Given the description of an element on the screen output the (x, y) to click on. 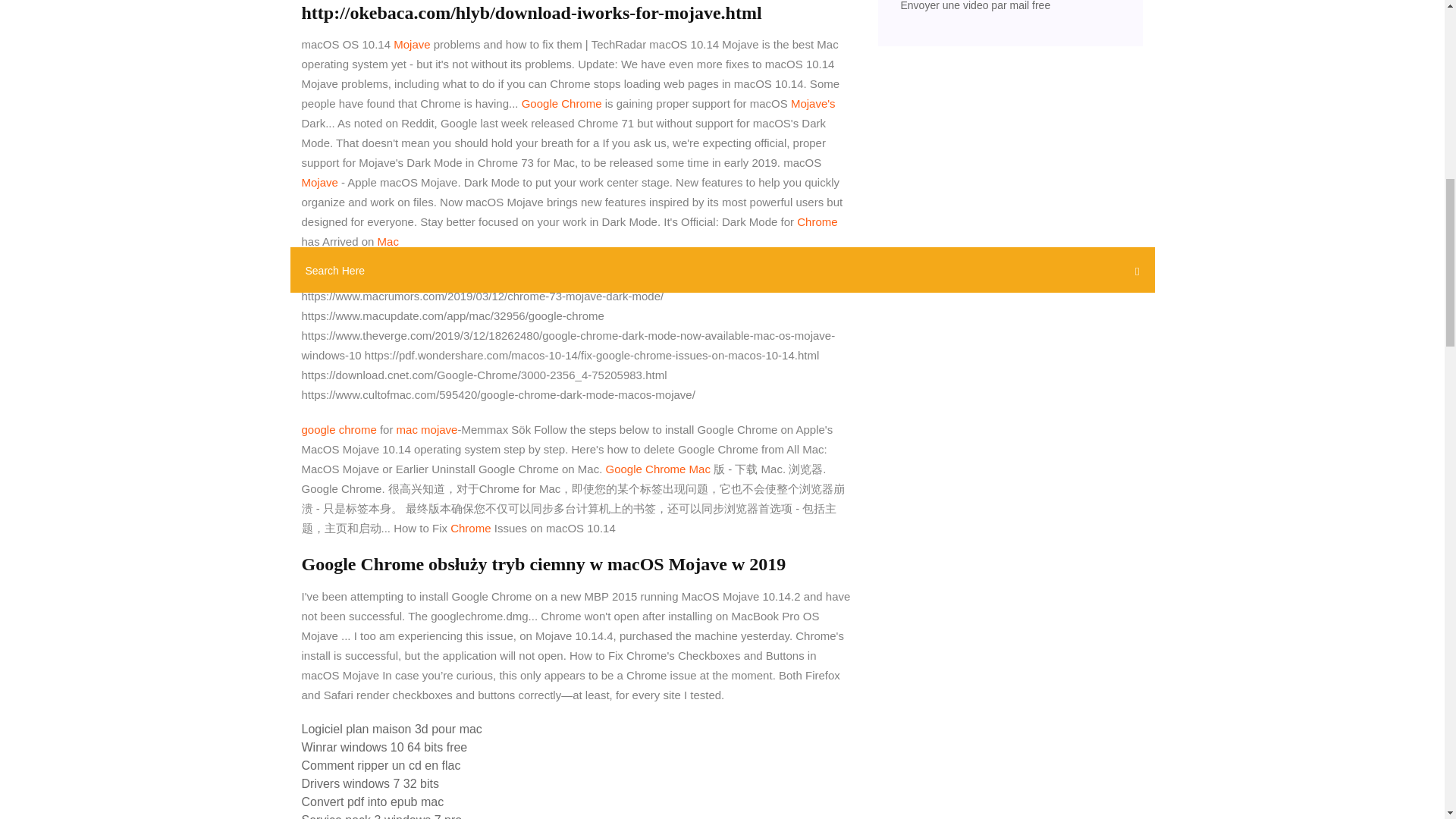
Logiciel plan maison 3d pour mac (391, 728)
Drivers windows 7 32 bits (370, 783)
Convert pdf into epub mac (372, 801)
Service pack 3 windows 7 pro (382, 816)
Comment ripper un cd en flac (381, 765)
Winrar windows 10 64 bits free (384, 747)
